Given the description of an element on the screen output the (x, y) to click on. 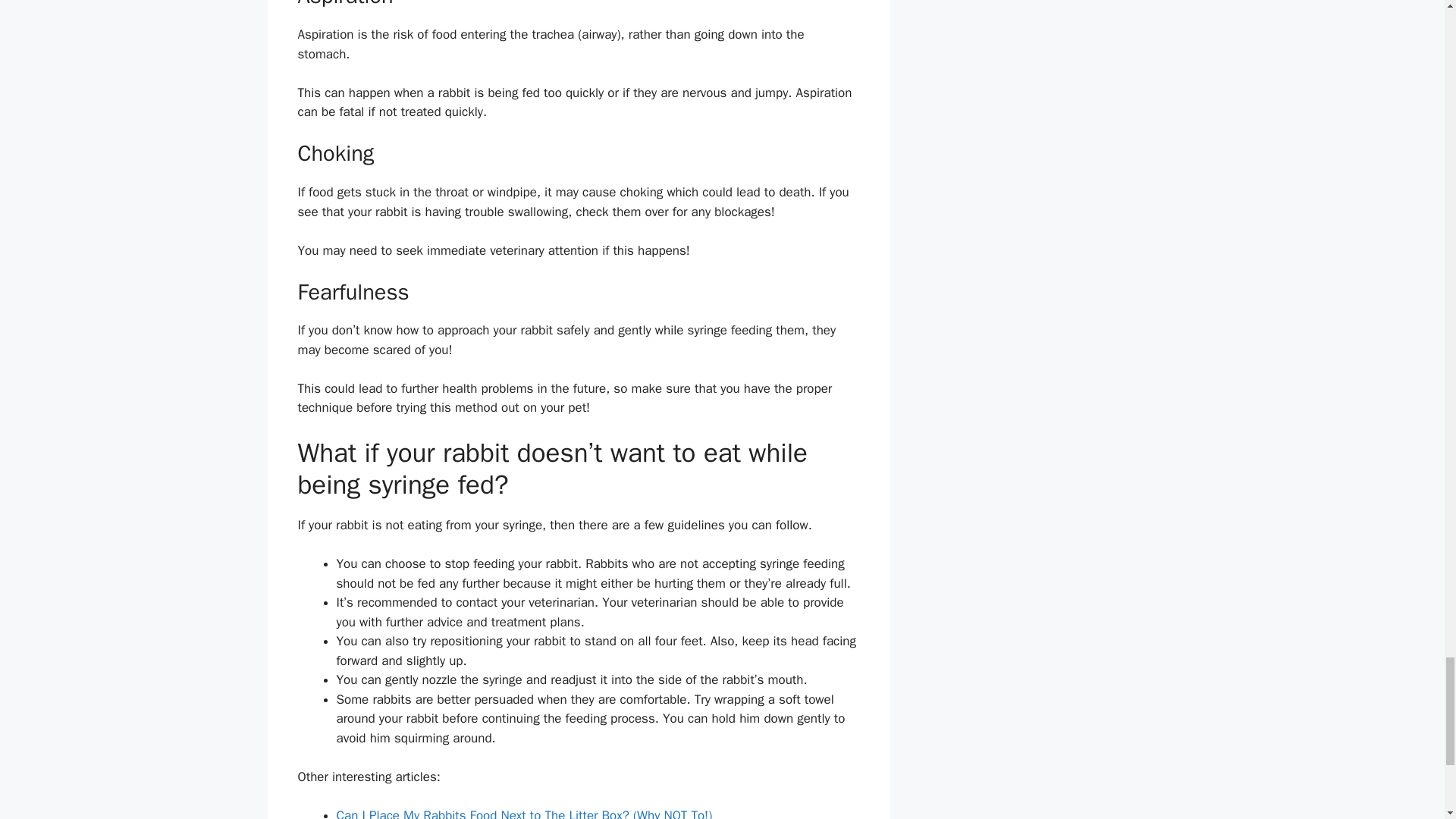
Can I Place My Rabbits Food (416, 813)
